Given the description of an element on the screen output the (x, y) to click on. 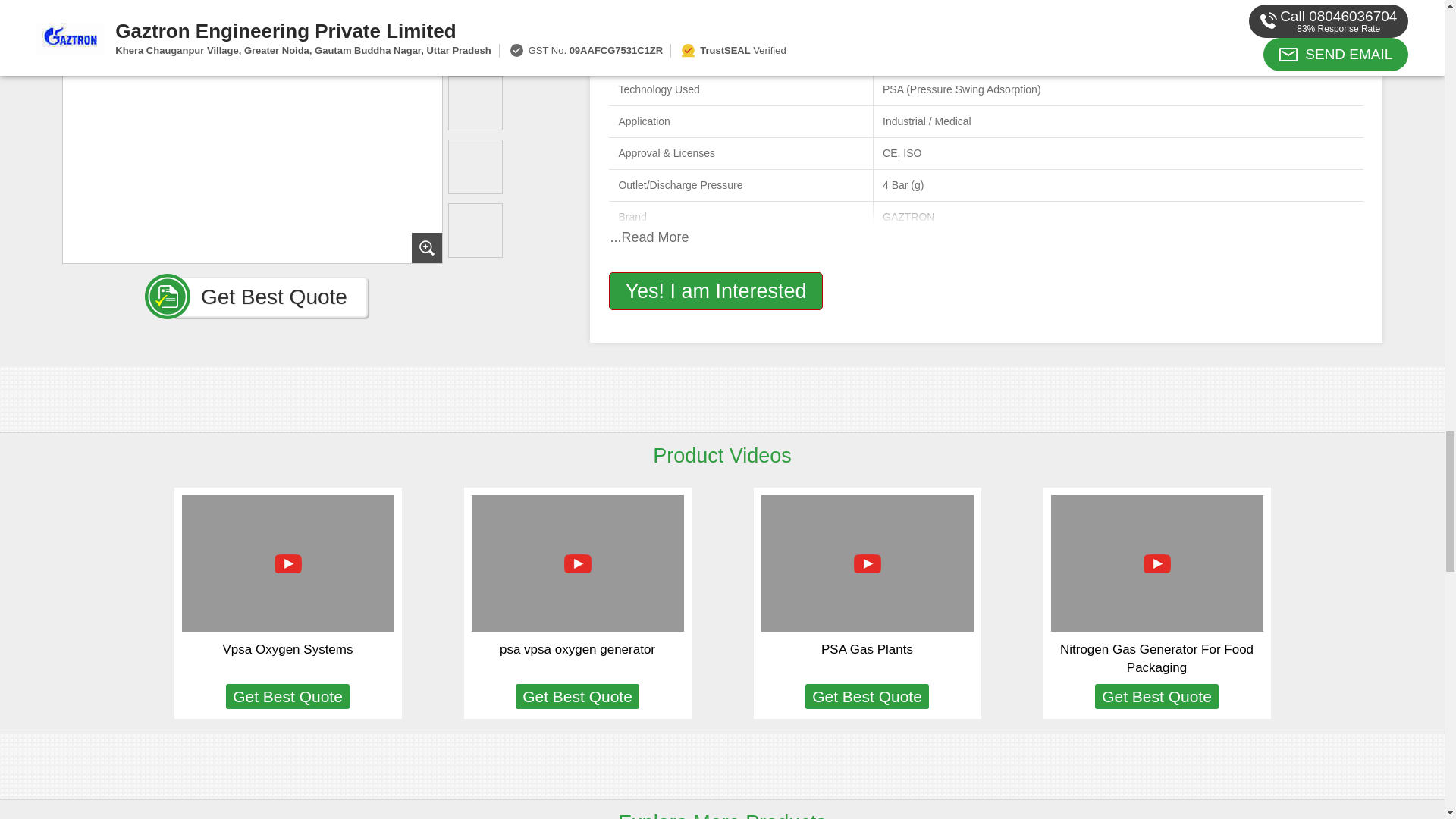
PSA Gas Plants (866, 649)
psa vpsa oxygen generator (577, 649)
Vpsa Oxygen Systems (287, 649)
